Given the description of an element on the screen output the (x, y) to click on. 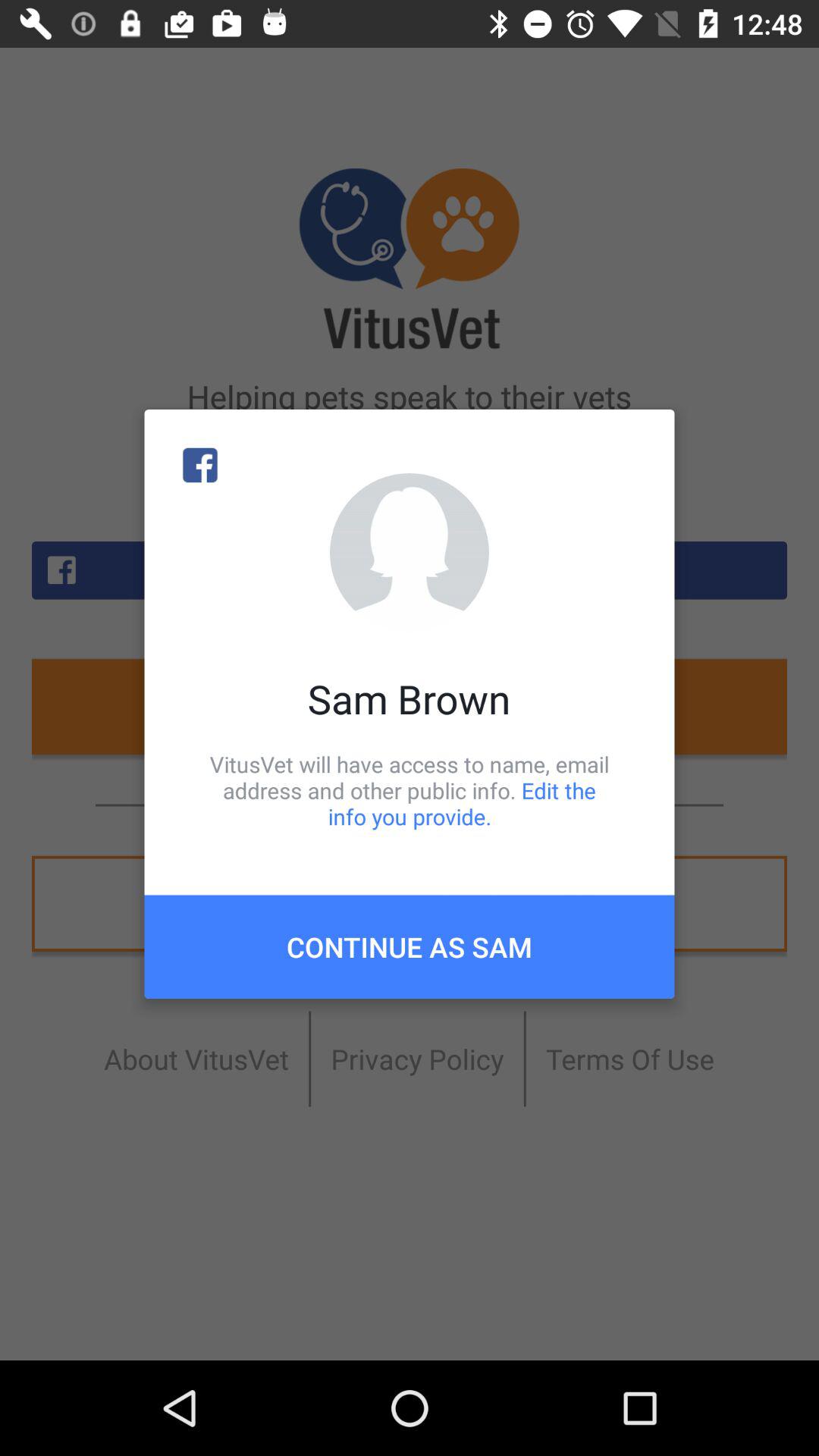
tap icon below the vitusvet will have icon (409, 946)
